Given the description of an element on the screen output the (x, y) to click on. 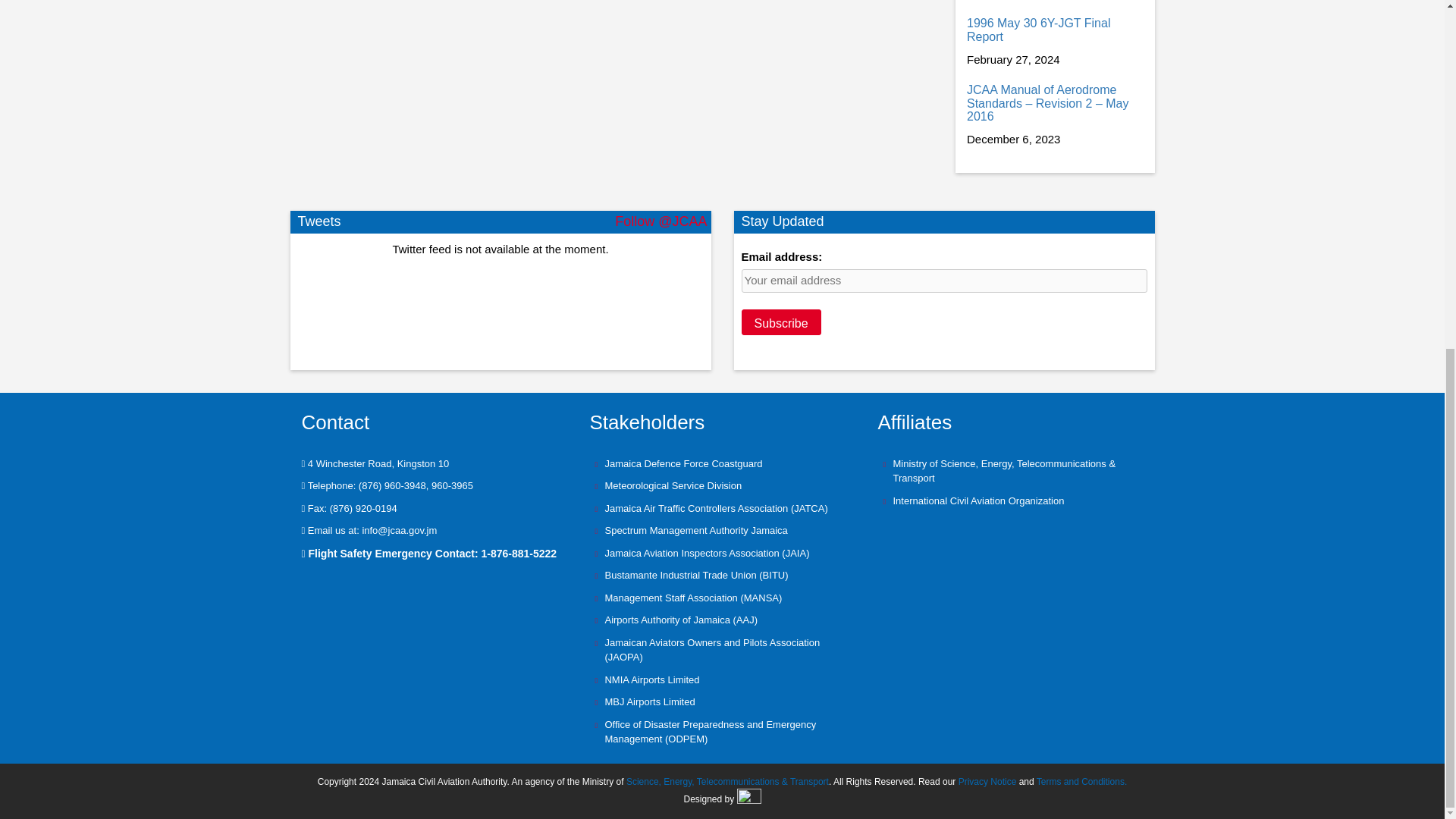
Subscribe (781, 321)
